Given the description of an element on the screen output the (x, y) to click on. 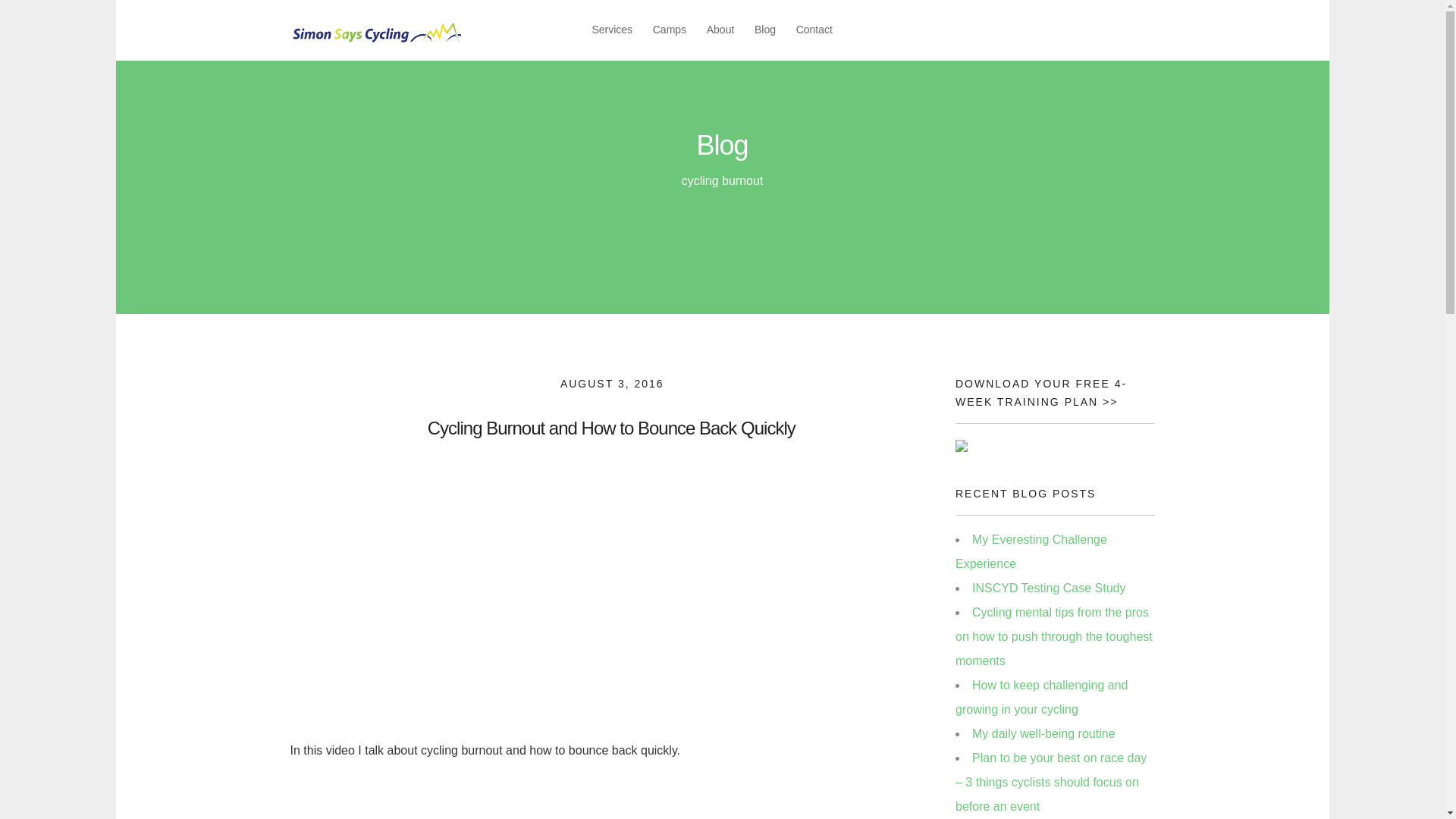
About (720, 29)
Blog (765, 29)
Services (611, 29)
Camps (668, 29)
INSCYD Testing Case Study (1048, 587)
Cycling Burnout and How to Bounce Back Quickly (611, 427)
How to keep challenging and growing in your cycling (1040, 696)
Contact (814, 29)
My Everesting Challenge Experience (1030, 551)
